Given the description of an element on the screen output the (x, y) to click on. 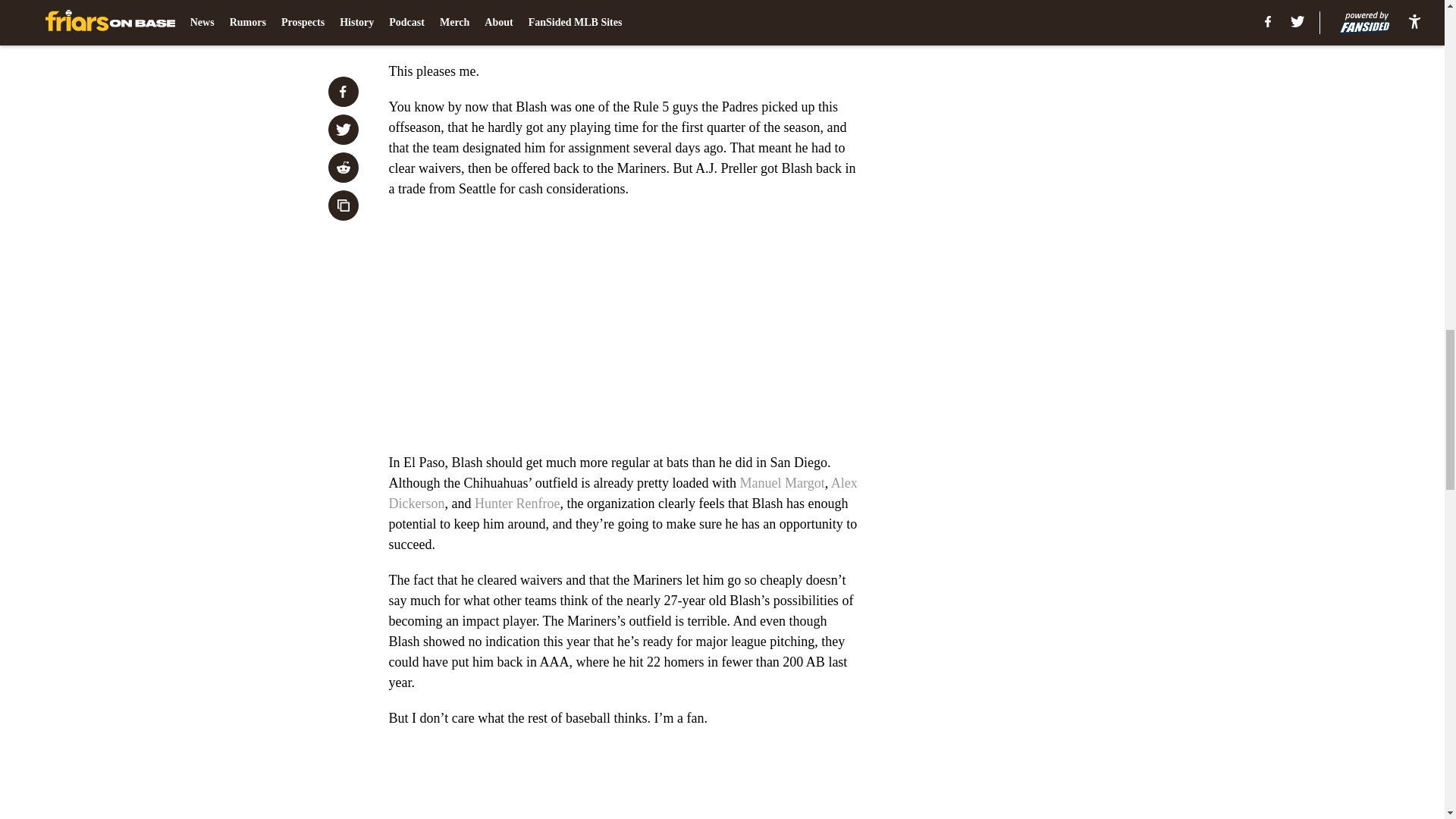
Hunter Renfroe (516, 503)
Alex Dickerson (622, 493)
Manuel Margot (782, 482)
